Given the description of an element on the screen output the (x, y) to click on. 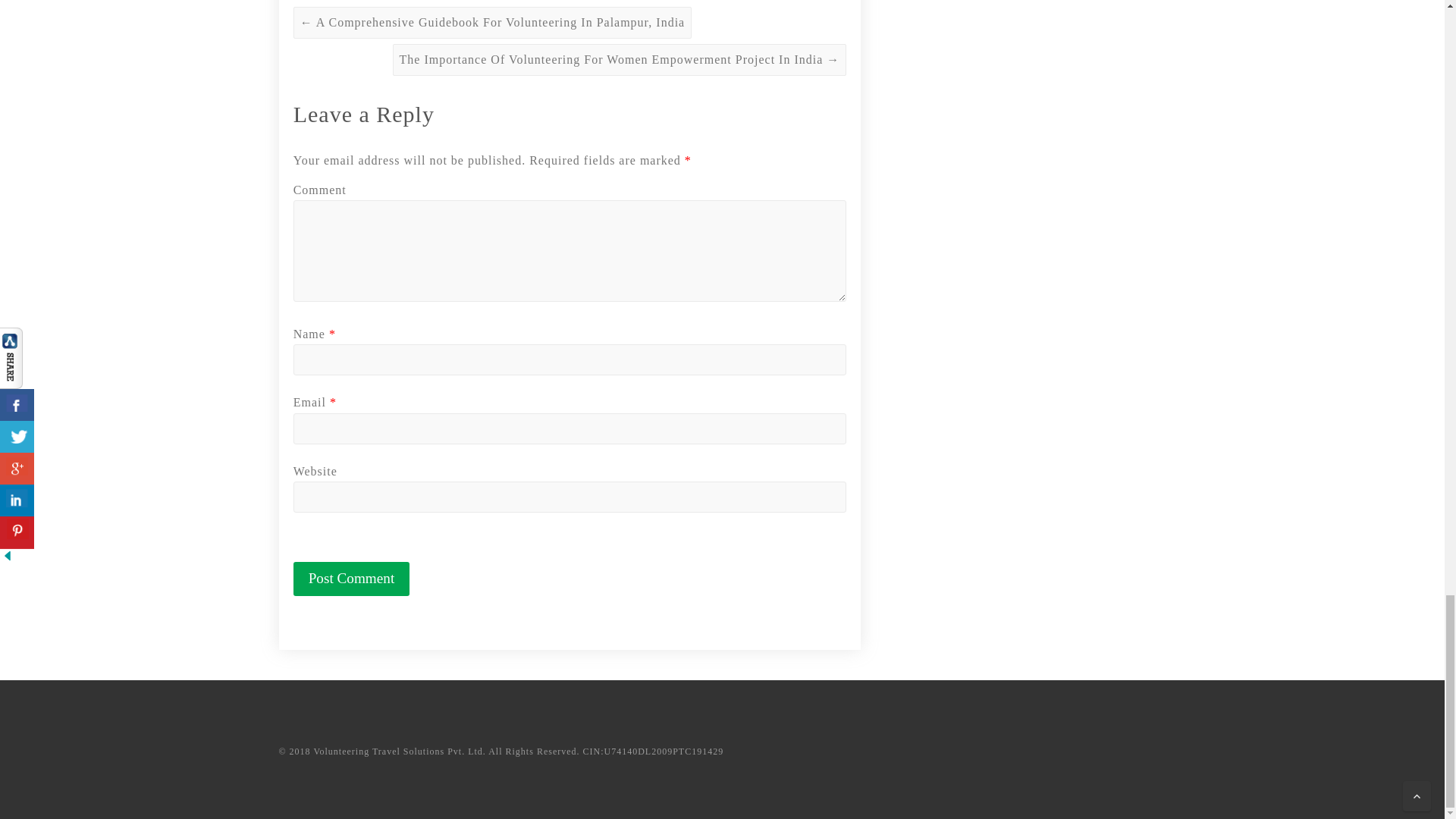
Post Comment (352, 578)
Post Comment (352, 578)
